Given the description of an element on the screen output the (x, y) to click on. 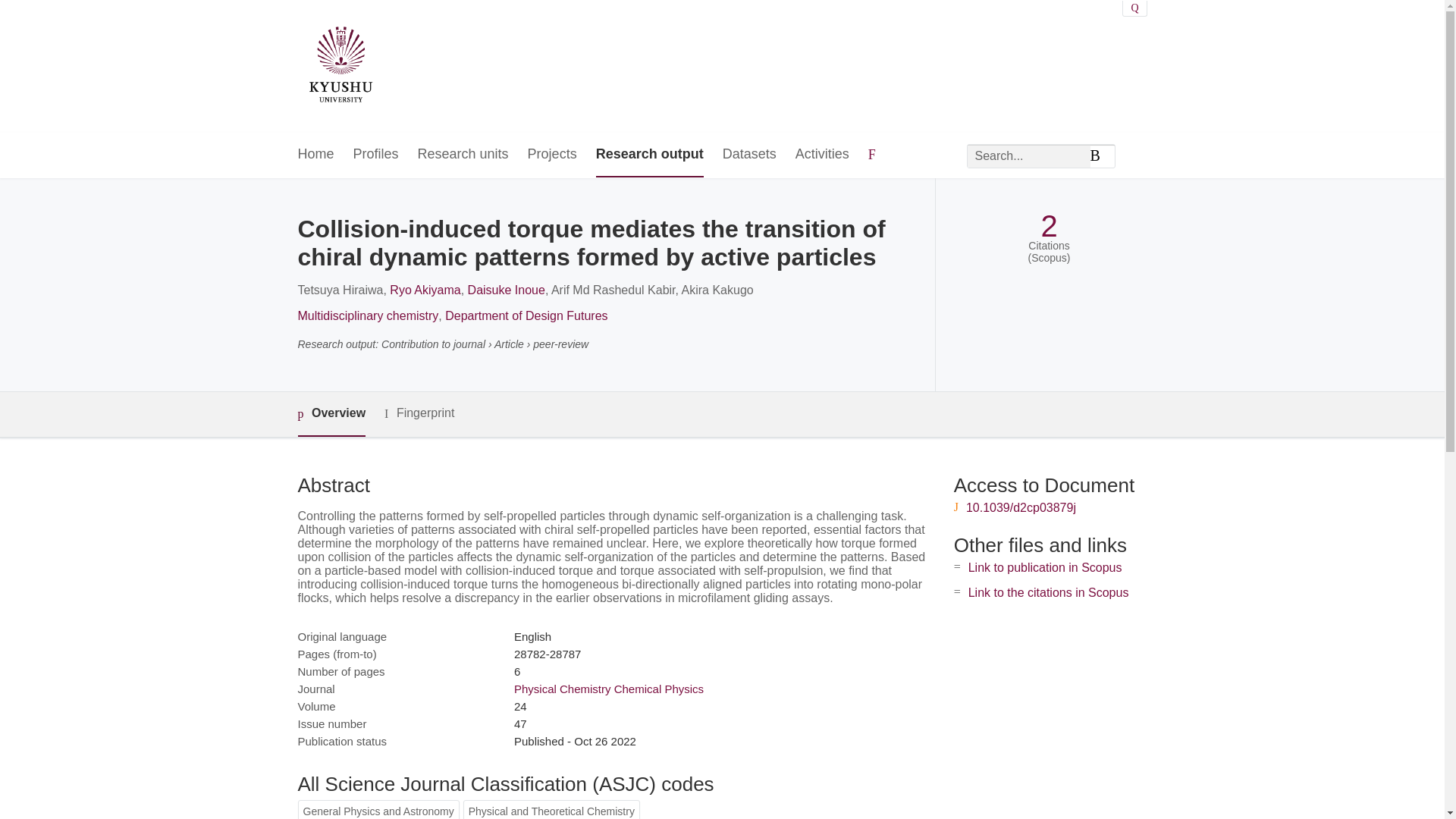
Research units (462, 154)
Research output (649, 154)
Datasets (749, 154)
Physical Chemistry Chemical Physics (608, 688)
Link to the citations in Scopus (1048, 592)
Daisuke Inoue (505, 289)
Ryo Akiyama (425, 289)
Fingerprint (419, 413)
Projects (551, 154)
